Given the description of an element on the screen output the (x, y) to click on. 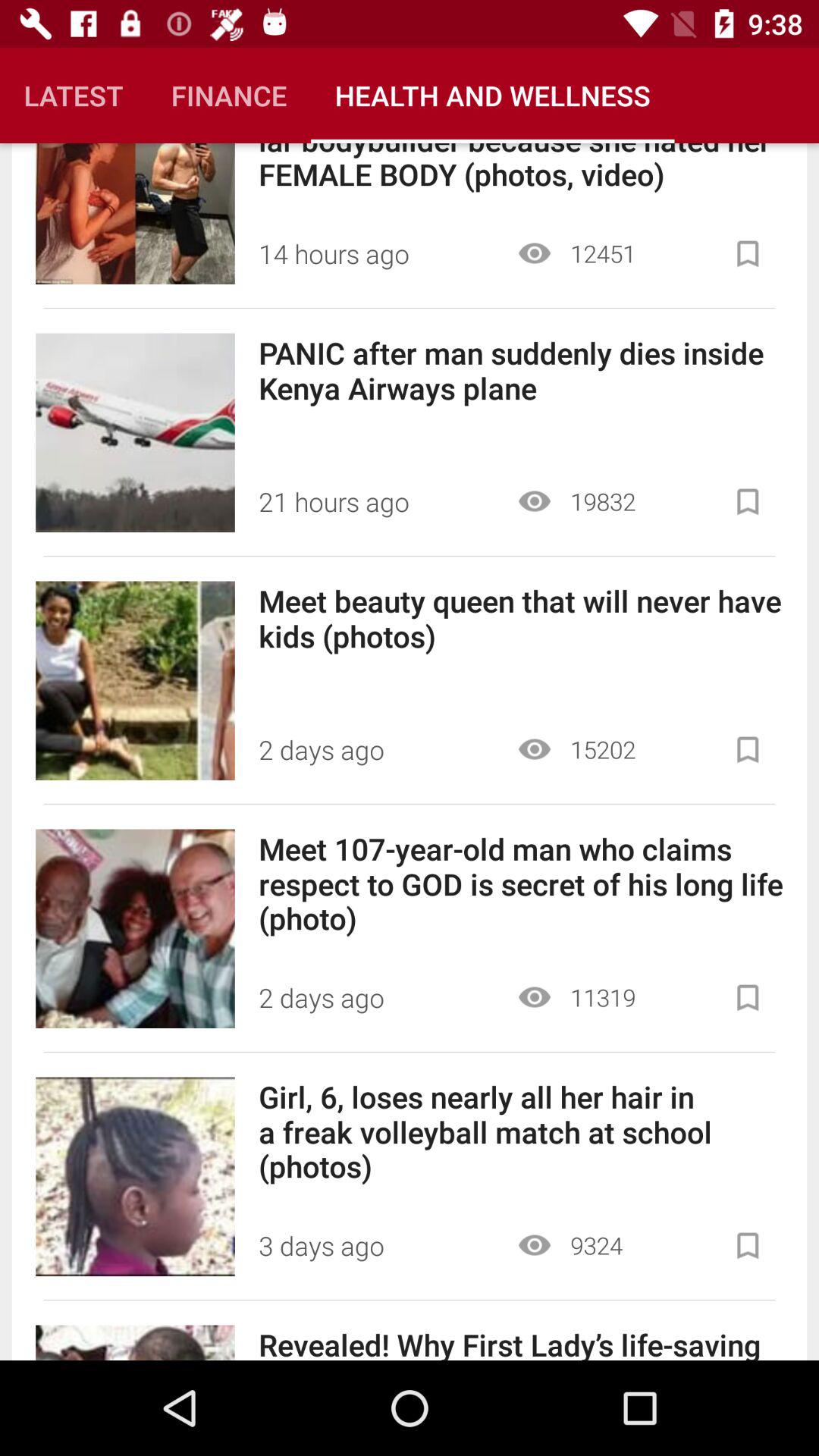
add to saved list (747, 749)
